Given the description of an element on the screen output the (x, y) to click on. 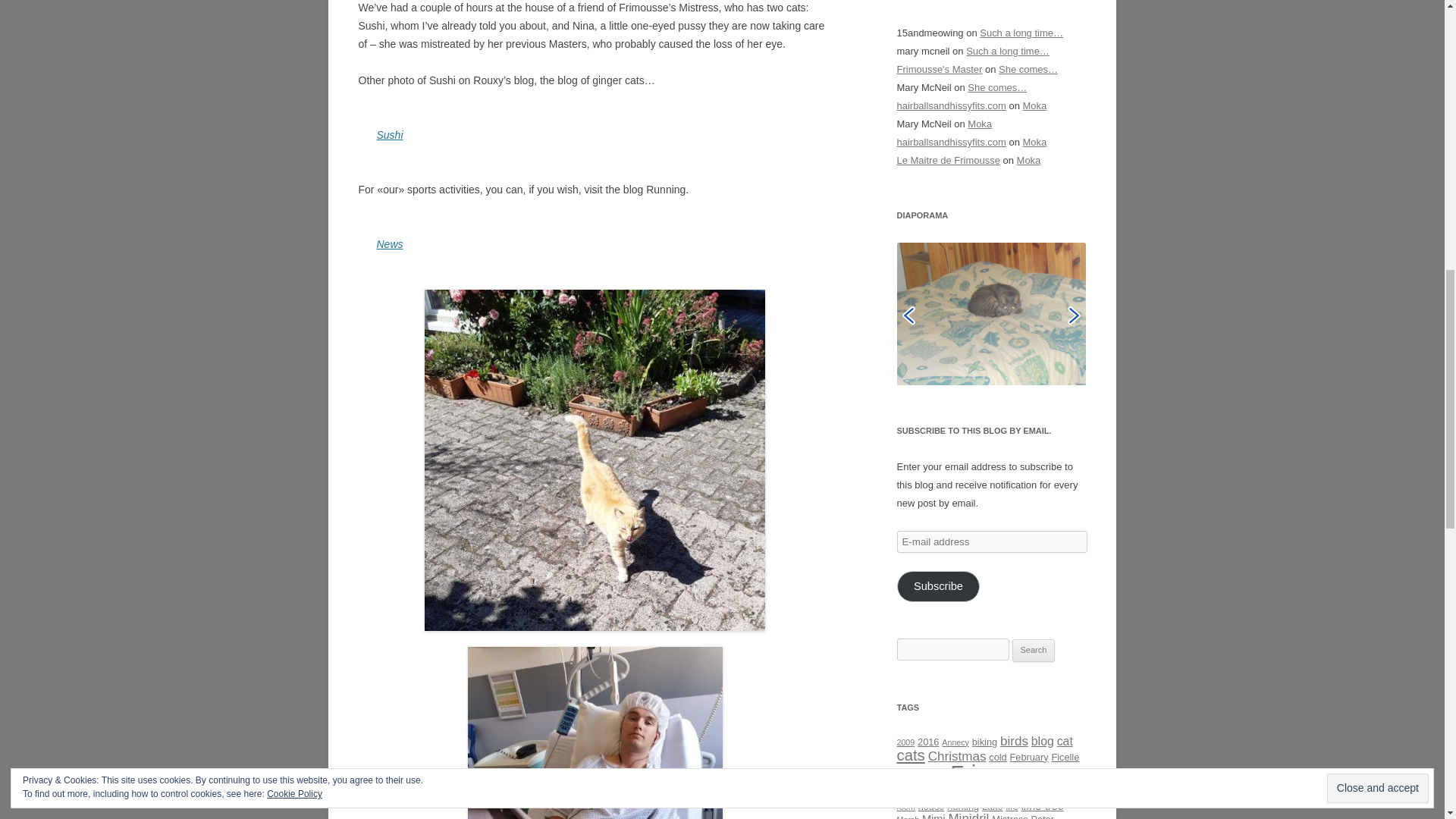
wp1 (991, 313)
News (389, 244)
DSCN4072 - Copie (991, 313)
Search (1033, 650)
Sushi (389, 134)
